Given the description of an element on the screen output the (x, y) to click on. 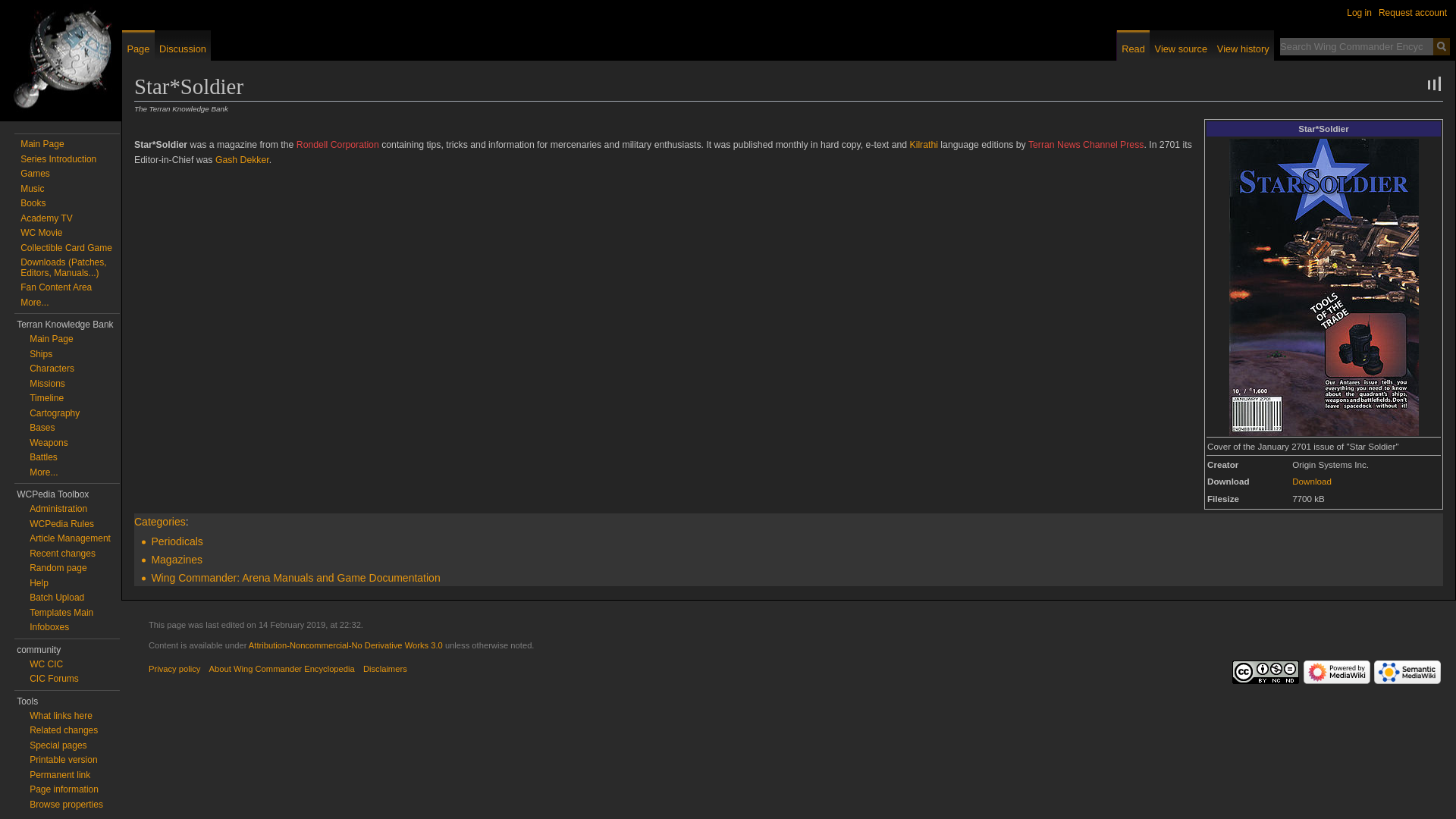
WC Movie (41, 232)
Main Page (50, 338)
Search (1441, 45)
Gash Dekker (242, 159)
Ships (40, 353)
Search the pages for this text (1441, 45)
Category:Magazines (176, 559)
Wing Commander: Arena Manuals and Game Documentation (295, 577)
Download (1312, 480)
Category:Periodicals (176, 541)
Search (1441, 45)
Go (1441, 45)
Go (1441, 45)
Music (31, 188)
